Given the description of an element on the screen output the (x, y) to click on. 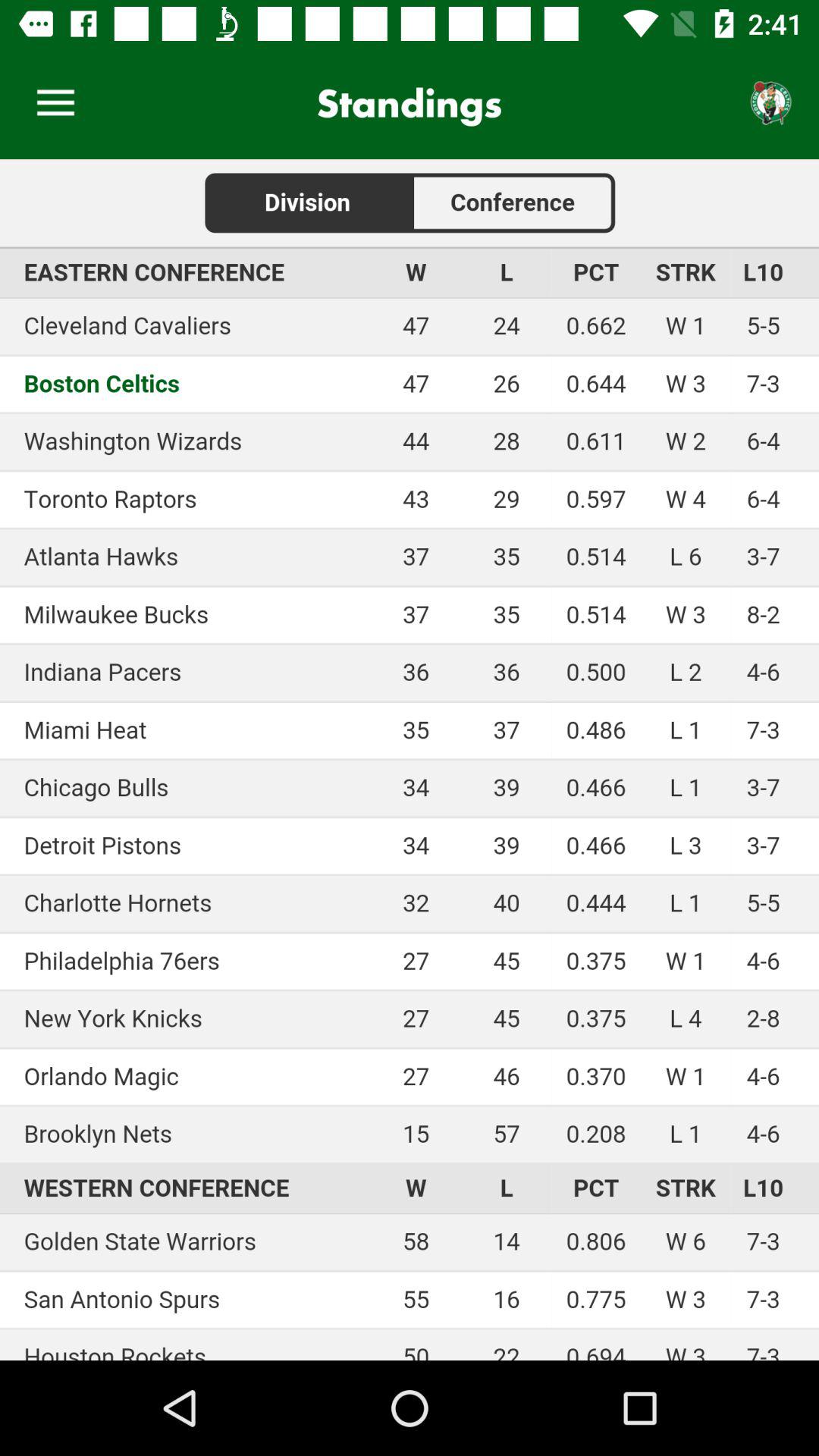
browse standings table (409, 759)
